Given the description of an element on the screen output the (x, y) to click on. 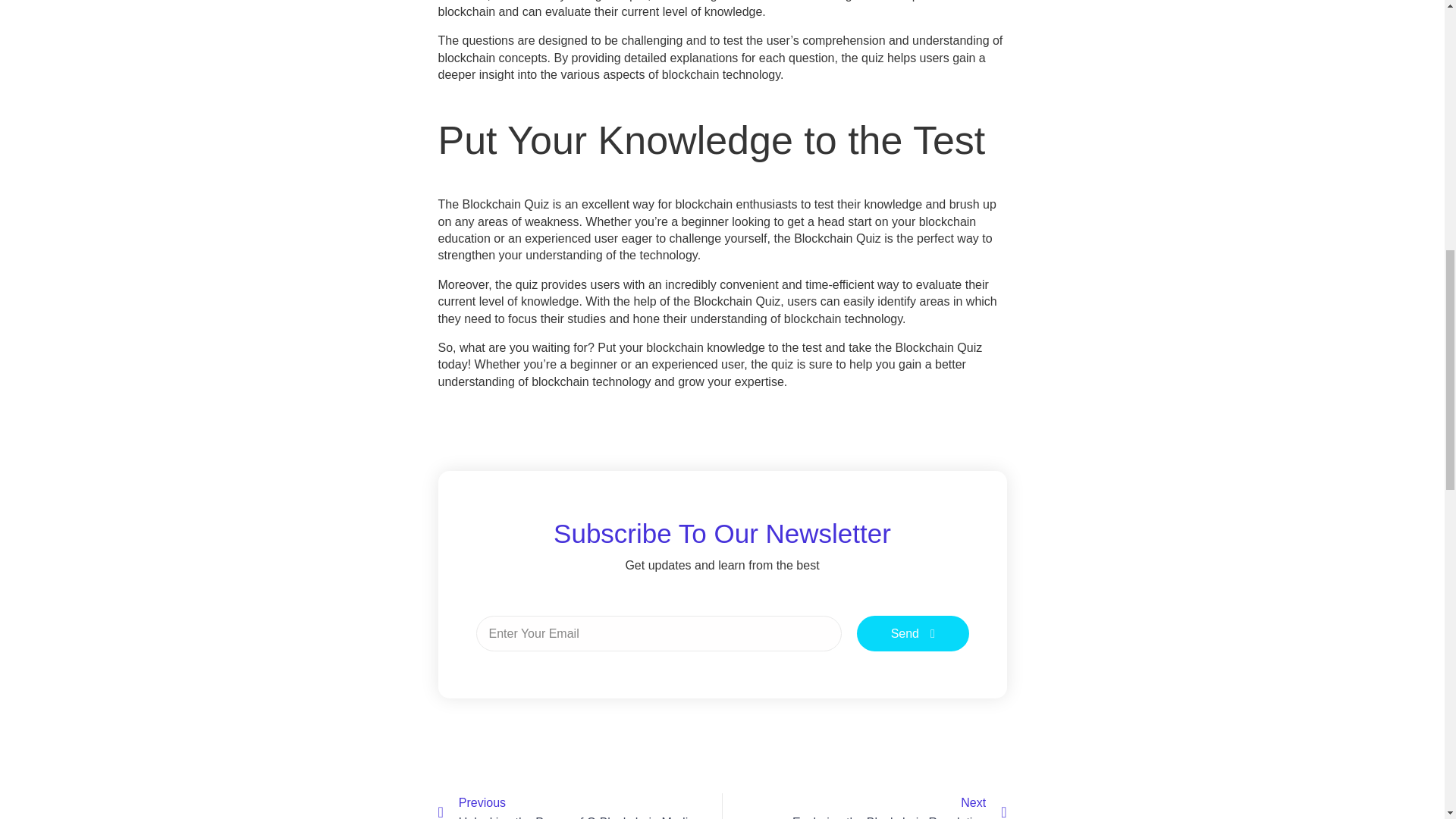
Send (913, 633)
